Given the description of an element on the screen output the (x, y) to click on. 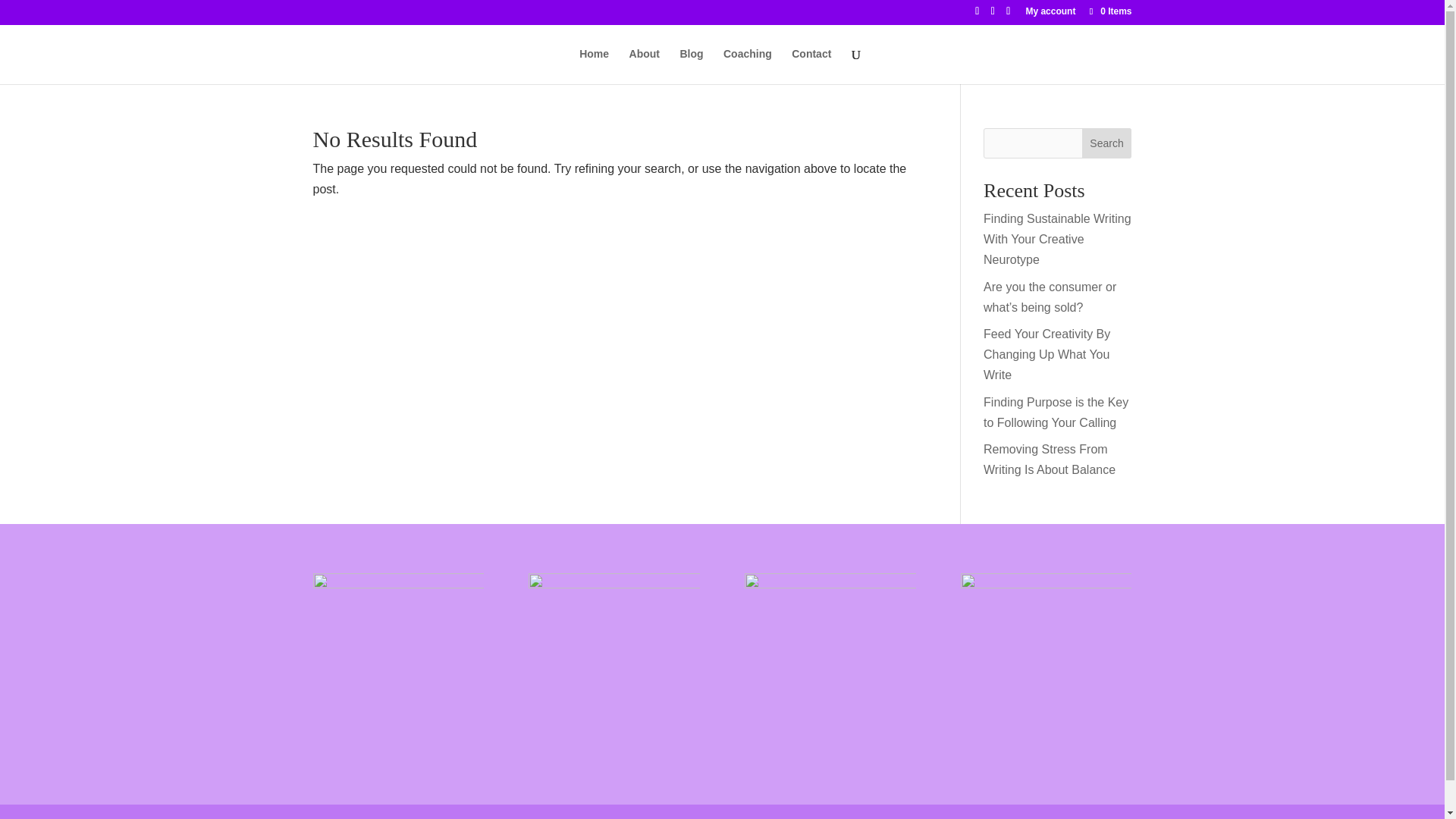
Search (1106, 142)
Finding Purpose is the Key to Following Your Calling (1056, 412)
Contact (811, 66)
Finding Sustainable Writing With Your Creative Neurotype (1057, 239)
Removing Stress From Writing Is About Balance (1049, 459)
0 Items (1108, 10)
Coaching (747, 66)
My account (1050, 14)
Feed Your Creativity By Changing Up What You Write (1046, 354)
